Given the description of an element on the screen output the (x, y) to click on. 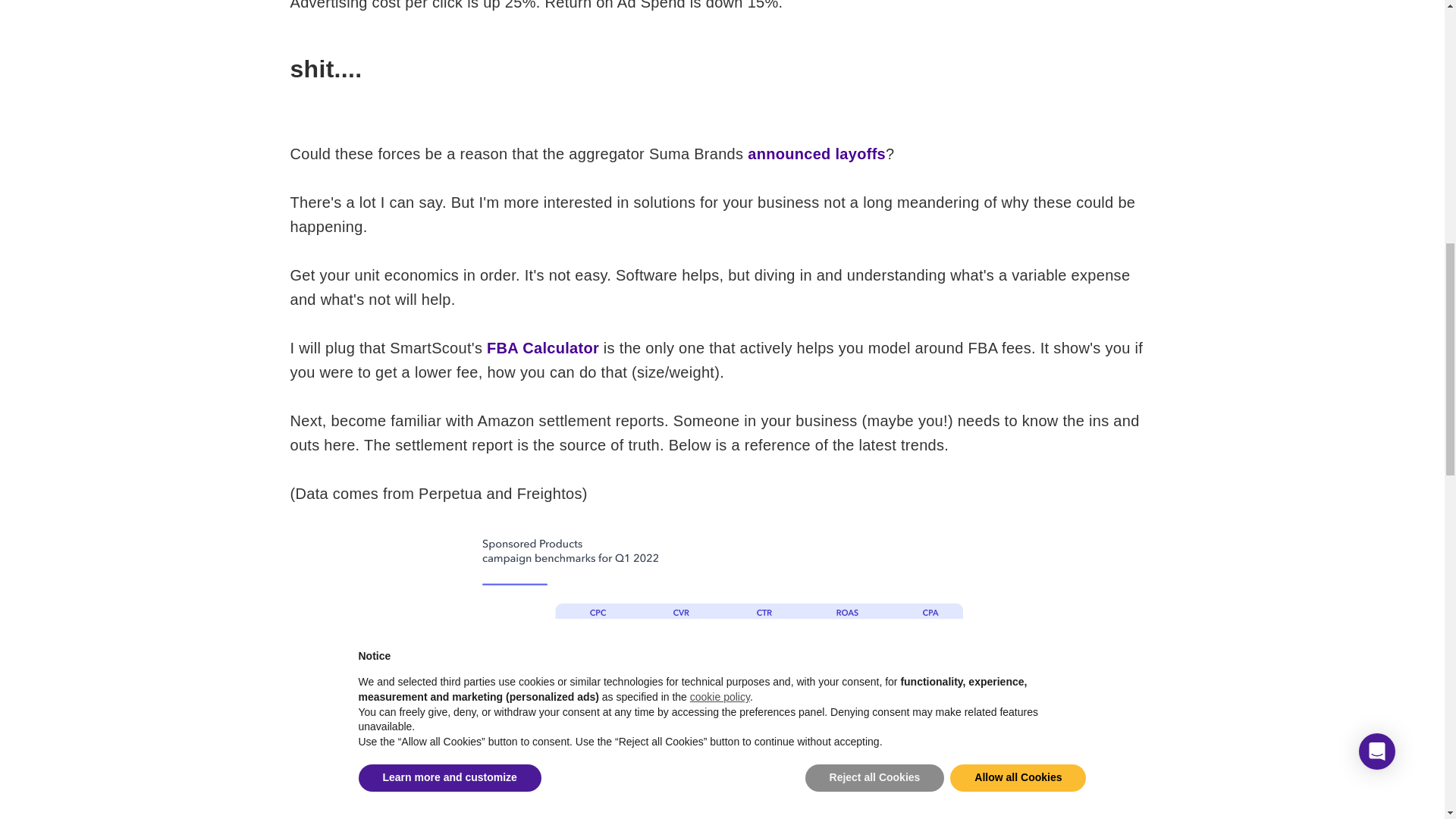
announced layoffs (816, 153)
FBA Calculator (542, 347)
